Given the description of an element on the screen output the (x, y) to click on. 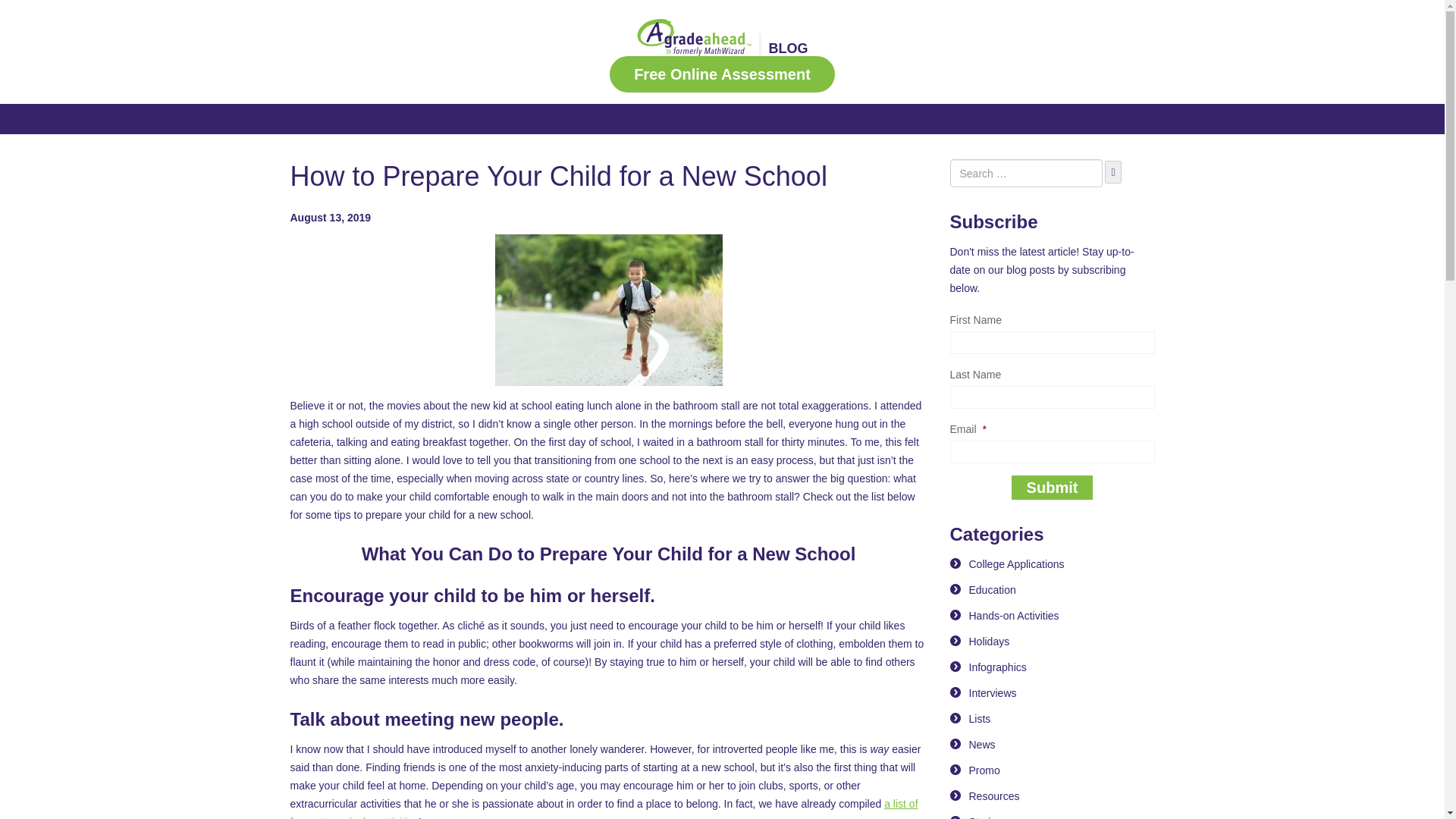
Promo (984, 770)
Lists (980, 718)
Resources (994, 796)
News (982, 744)
Free Online Assessment (722, 74)
Hands-on Activities (1014, 615)
Submit (1052, 487)
a list of fun extracurricular activities (603, 808)
Education (992, 589)
Holidays (989, 641)
Infographics (997, 666)
Interviews (992, 693)
Stories (986, 817)
College Applications (1016, 563)
Submit (1052, 487)
